Given the description of an element on the screen output the (x, y) to click on. 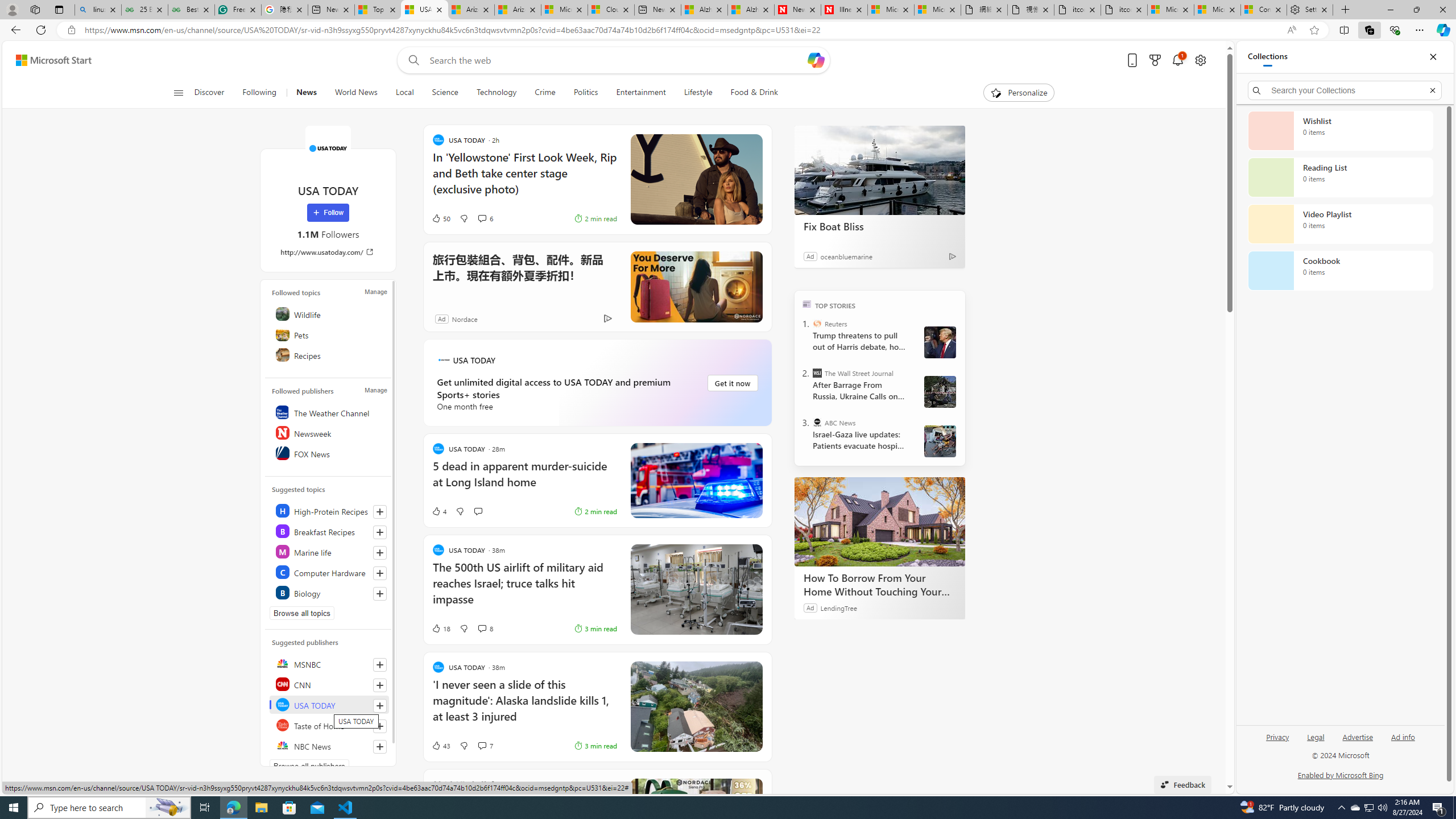
Exit search (1432, 90)
oceanbluemarine (845, 256)
4 Like (438, 511)
Search your Collections (1345, 90)
Taste of Home (328, 724)
